Given the description of an element on the screen output the (x, y) to click on. 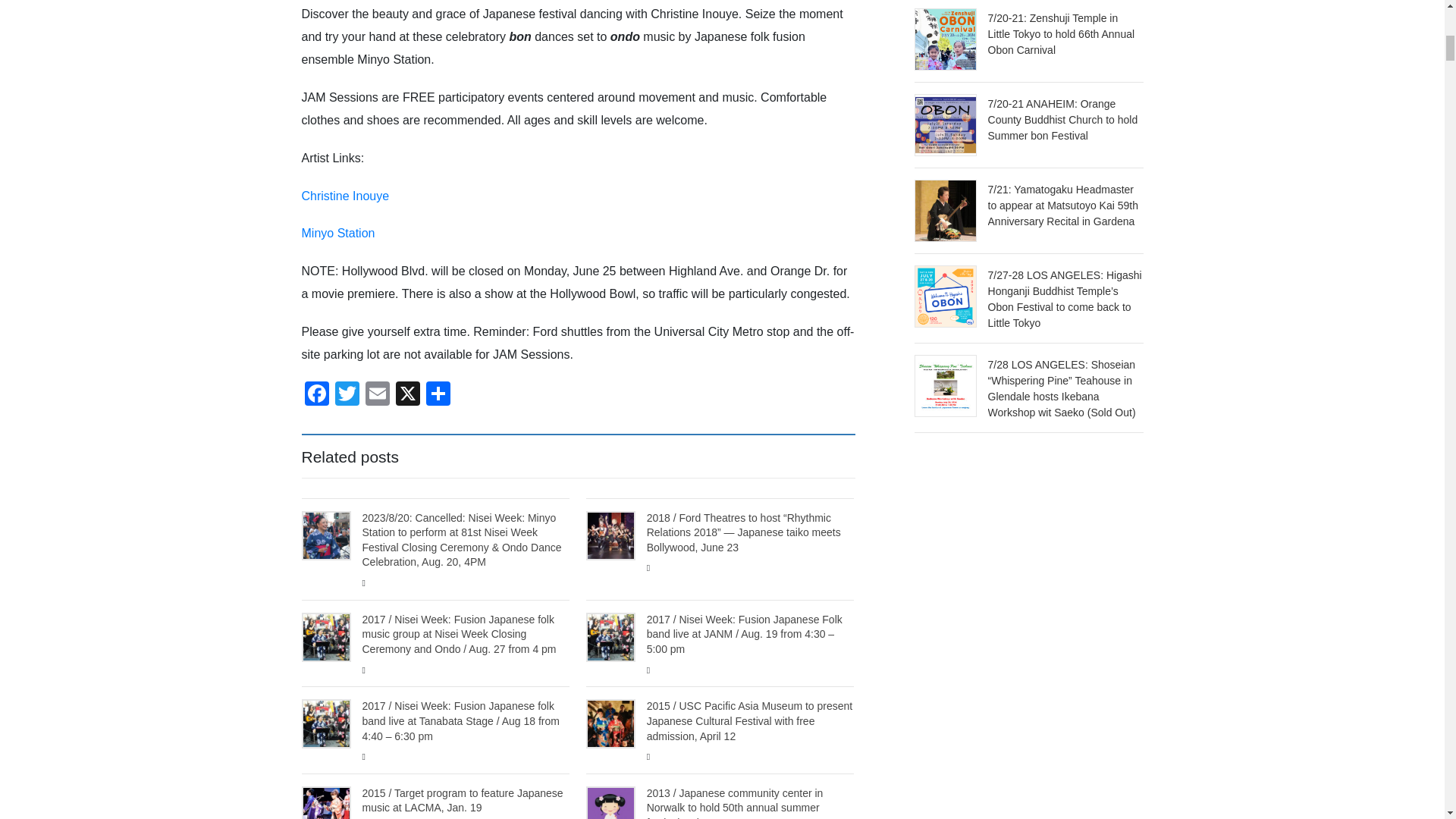
Email (377, 395)
X (408, 395)
Facebook (316, 395)
Email (377, 395)
X (408, 395)
Facebook (316, 395)
Twitter (346, 395)
Christine Inouye (345, 195)
Twitter (346, 395)
Minyo Station (338, 232)
